Given the description of an element on the screen output the (x, y) to click on. 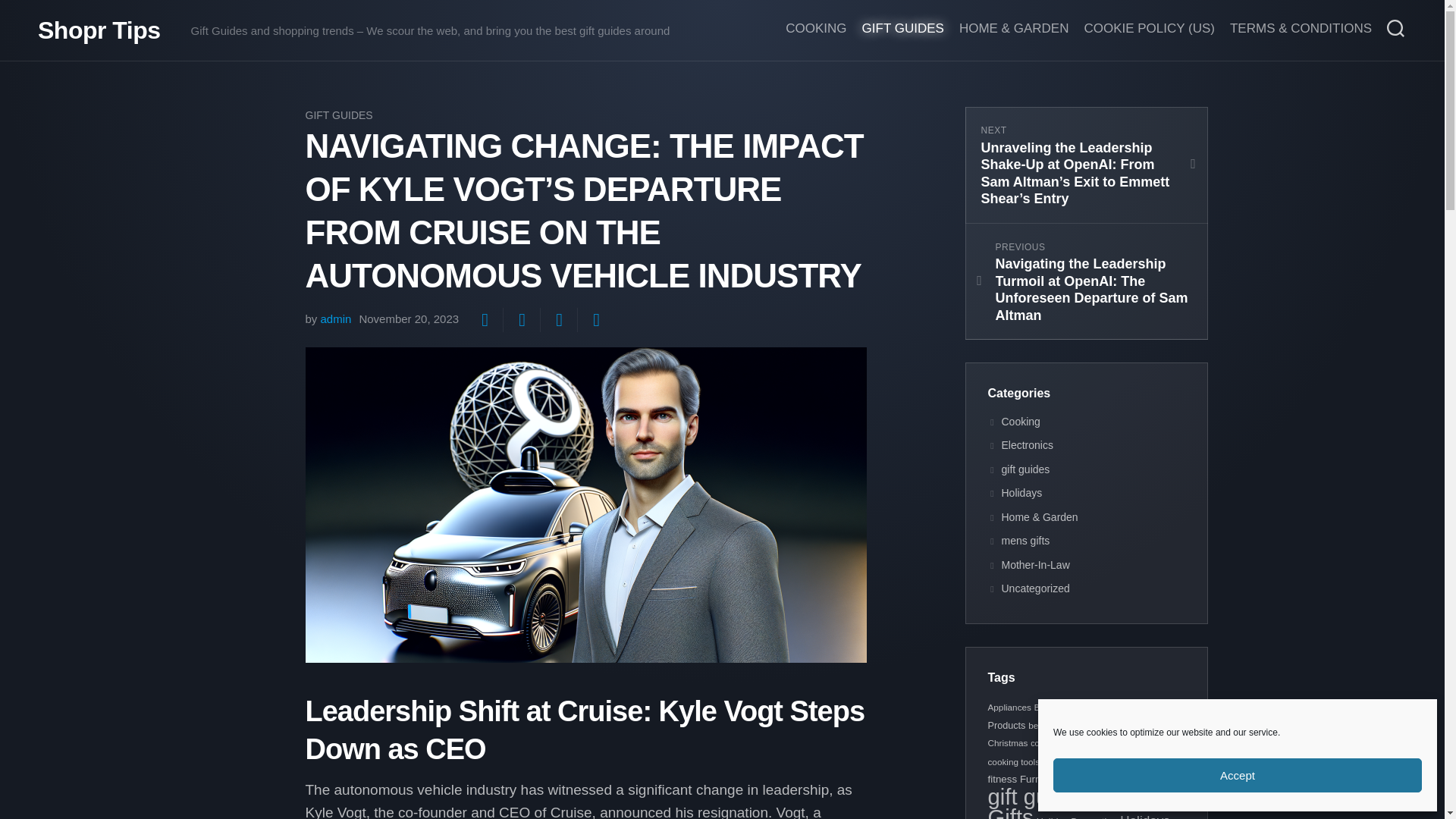
Posts by admin (336, 318)
Share on Facebook (521, 319)
Share on Pinterest (558, 319)
Accept (1237, 775)
GIFT GUIDES (902, 28)
COOKING (815, 28)
Shopr Tips (98, 30)
Share on X (483, 319)
GIFT GUIDES (338, 114)
Share on LinkedIn (595, 319)
admin (336, 318)
